Given the description of an element on the screen output the (x, y) to click on. 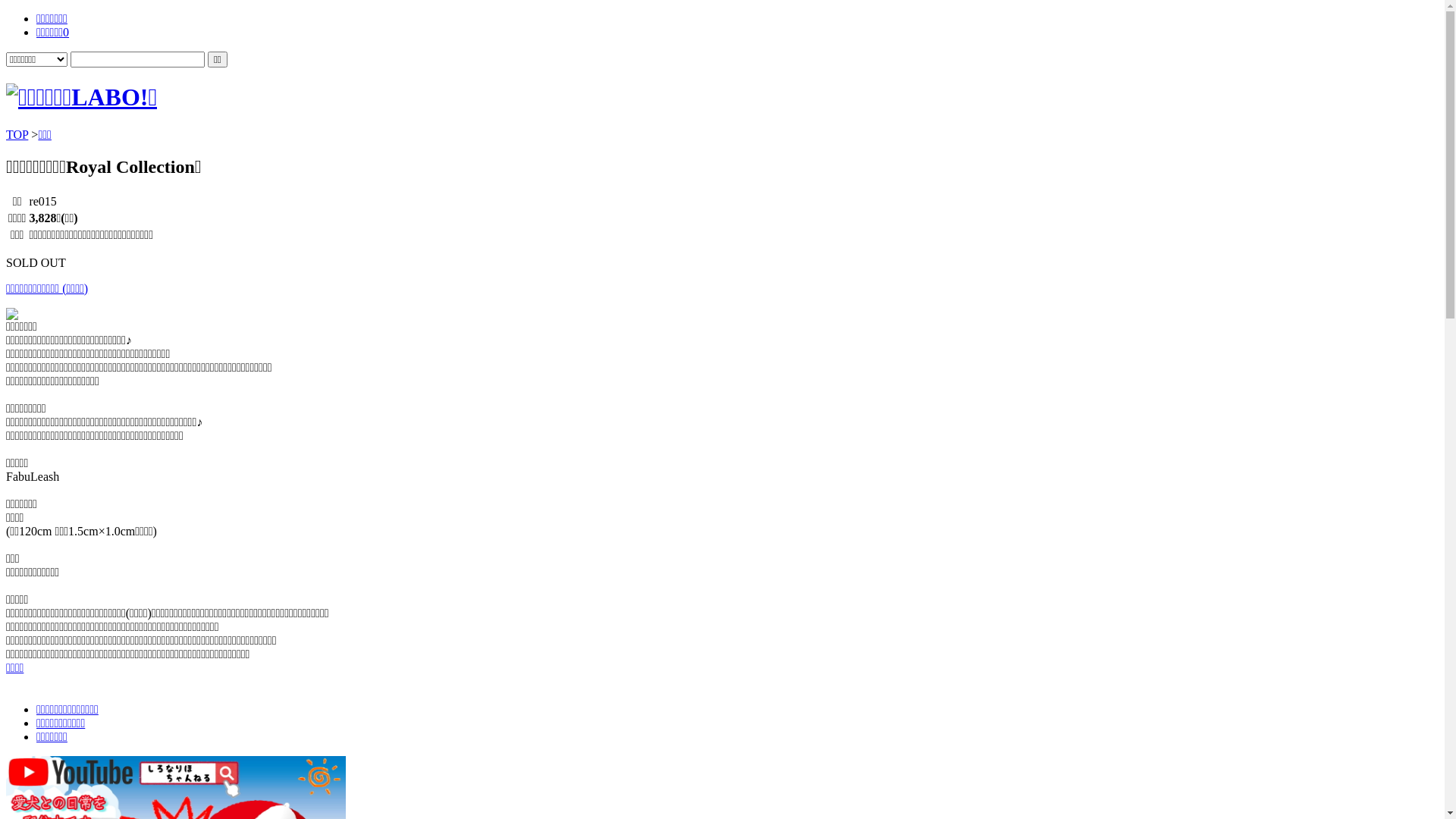
TOP Element type: text (17, 134)
